Given the description of an element on the screen output the (x, y) to click on. 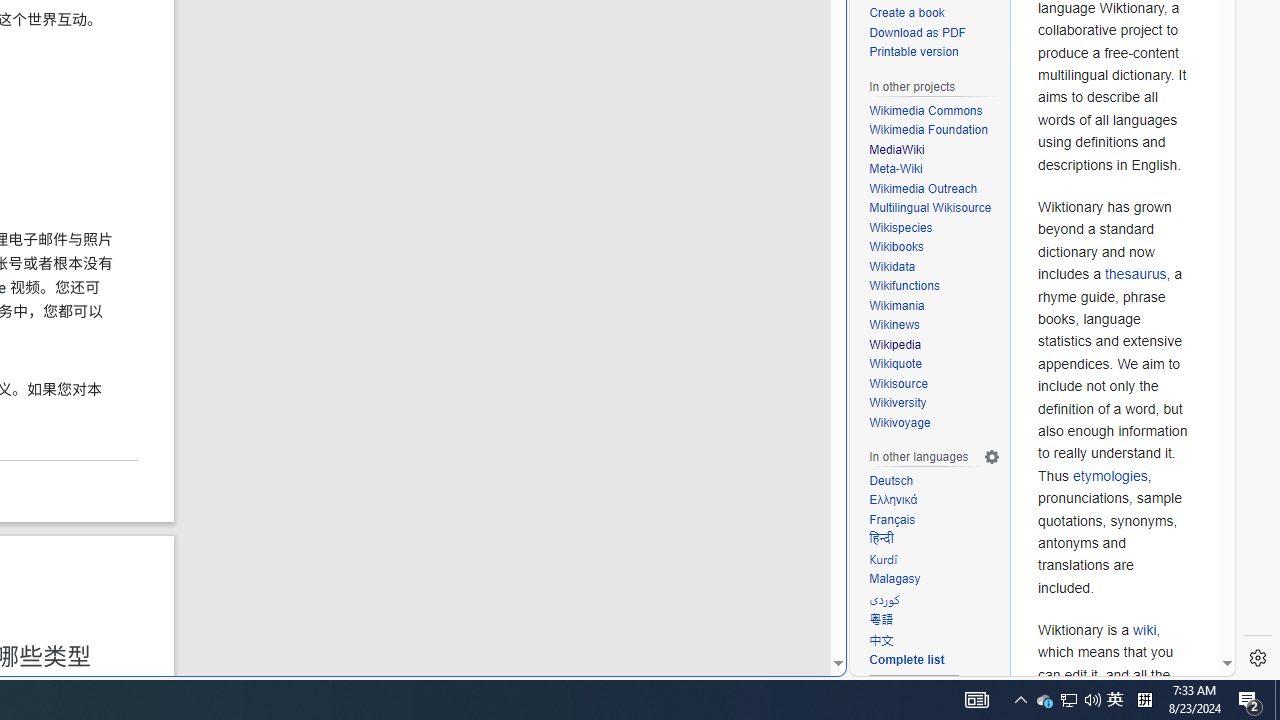
Wikiquote (895, 364)
wiki (1144, 630)
Wikimania (934, 305)
Wikimedia Commons (926, 110)
Create a book (906, 12)
Wikifunctions (934, 286)
